Given the description of an element on the screen output the (x, y) to click on. 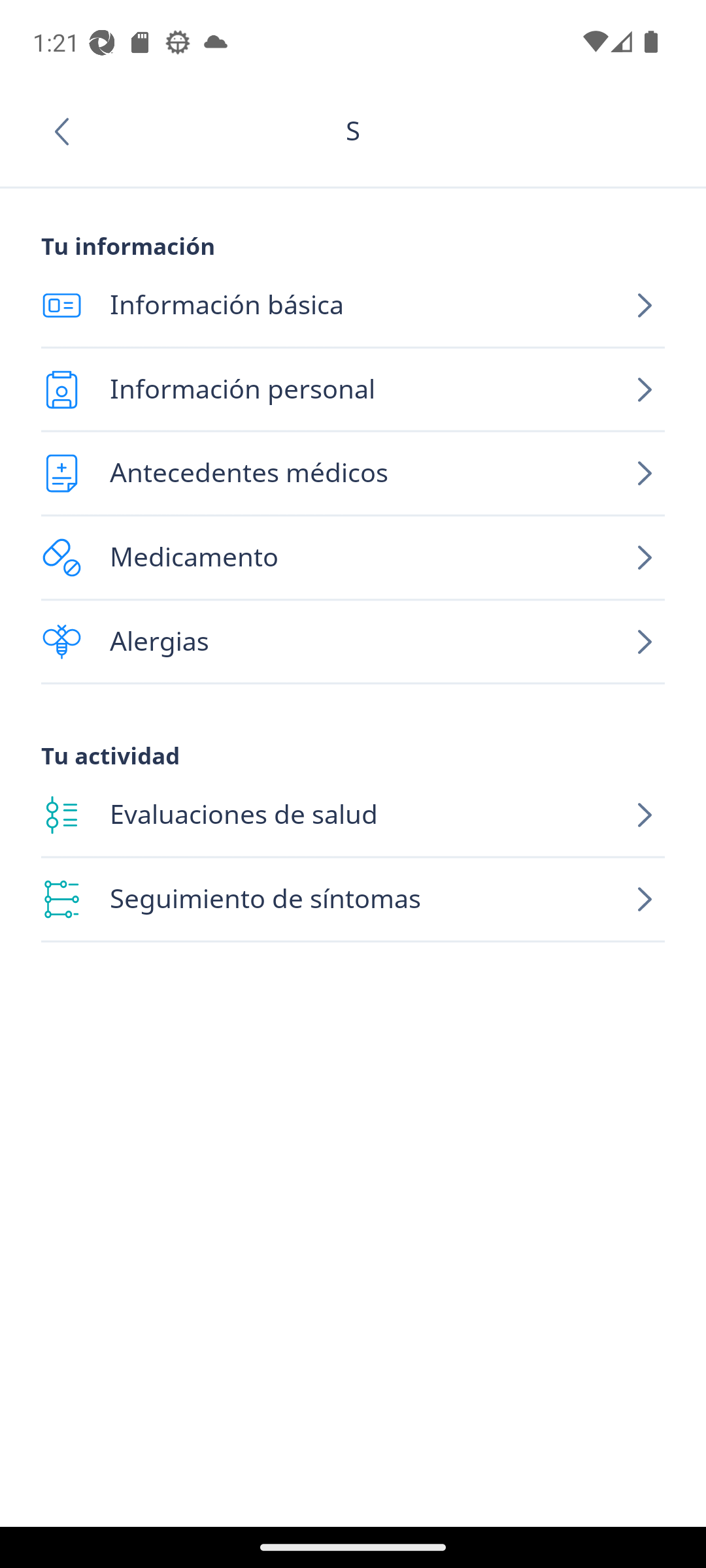
Go back, Navigates to the previous screen (68, 131)
Información básica (352, 305)
Información personal (352, 389)
Antecedentes médicos (352, 473)
Medicamento (352, 557)
Alergias (352, 641)
Evaluaciones de salud (352, 815)
Seguimiento de síntomas (352, 899)
